Given the description of an element on the screen output the (x, y) to click on. 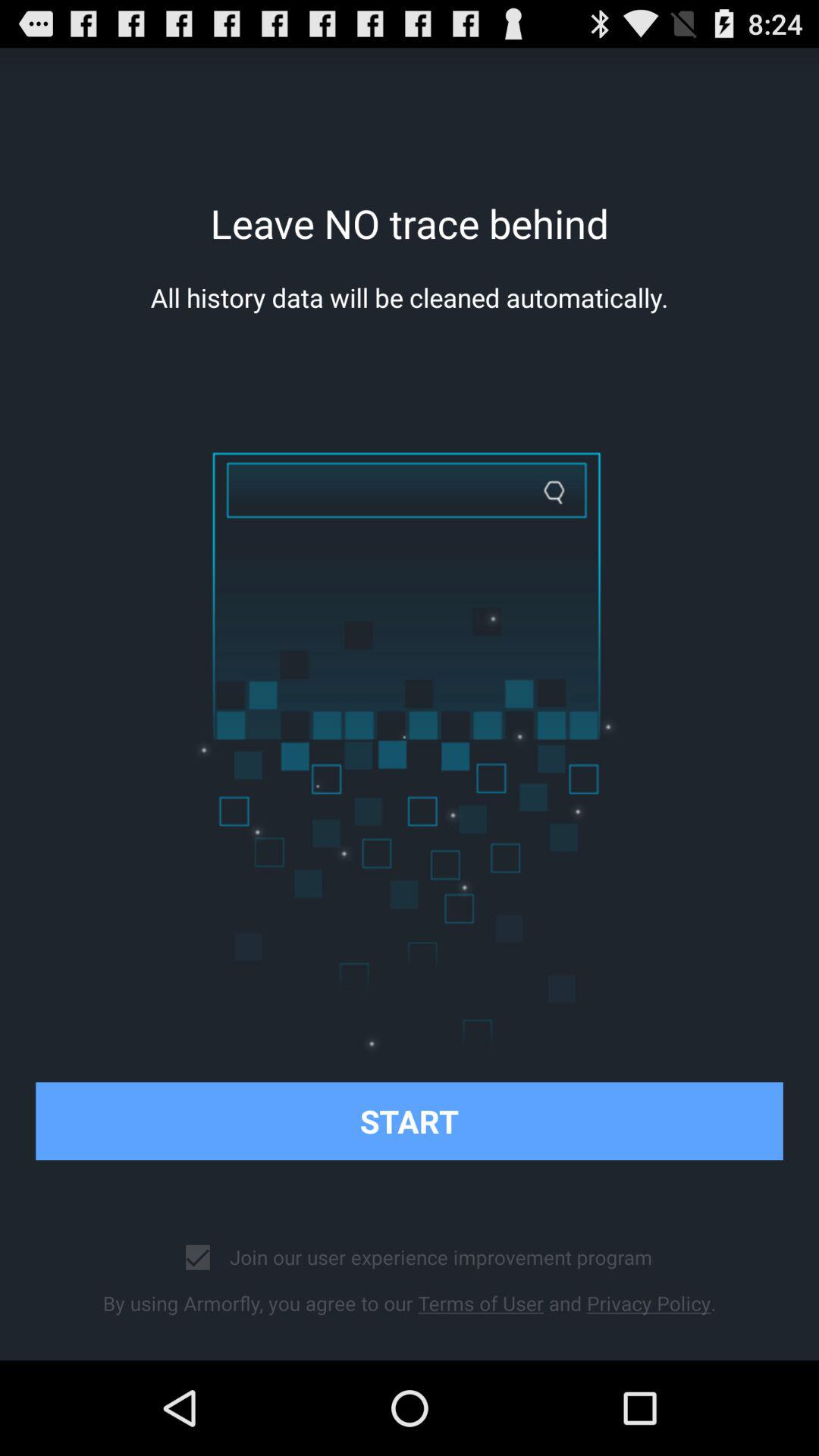
open the item above join our user (409, 1121)
